Given the description of an element on the screen output the (x, y) to click on. 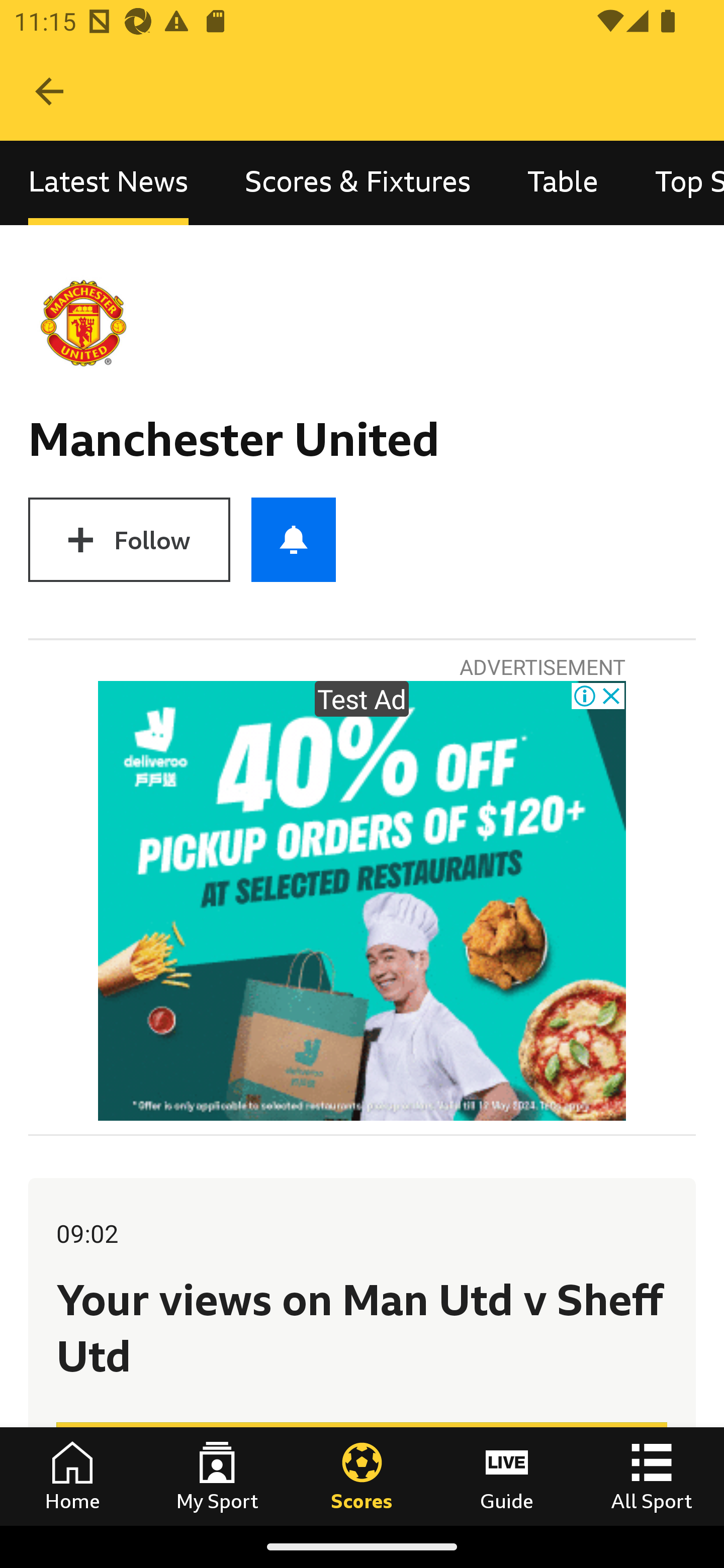
Navigate up (49, 91)
Latest News, selected Latest News (108, 183)
Scores & Fixtures (357, 183)
Table (562, 183)
Follow Manchester United Follow (129, 539)
Push notifications for Manchester United (293, 539)
Advertisement (361, 900)
Home (72, 1475)
My Sport (216, 1475)
Guide (506, 1475)
All Sport (651, 1475)
